Given the description of an element on the screen output the (x, y) to click on. 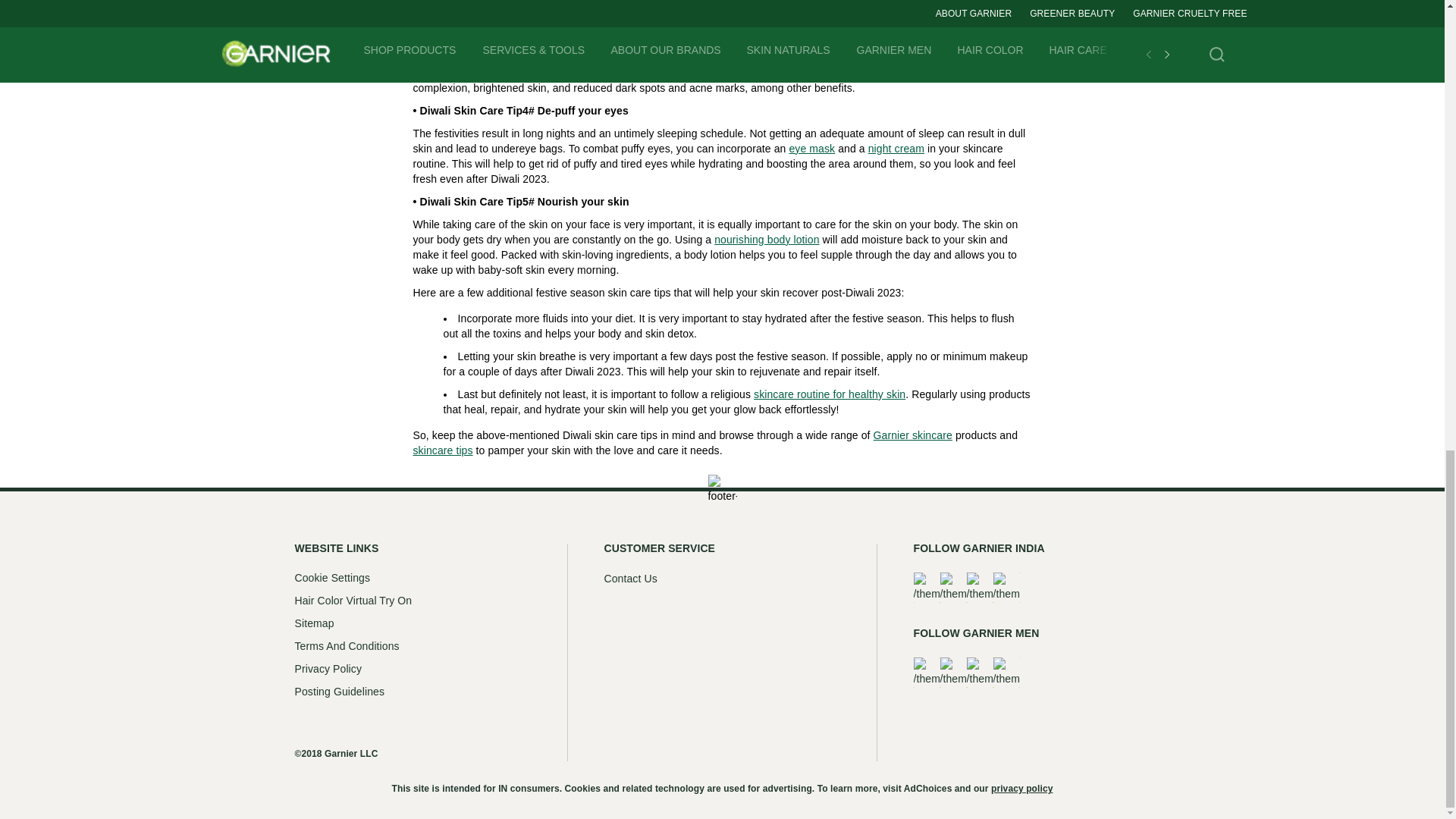
Follow us on Twitter (1006, 587)
Follow us on Facebook (925, 672)
Follow us on YouTube (979, 672)
Follow us on Facebook (925, 587)
Follow us on Twitter (1006, 672)
Follow us on Instagram (953, 587)
cookie settings (331, 577)
Follow us on YouTube (979, 587)
Follow us on Instagram (953, 672)
